Given the description of an element on the screen output the (x, y) to click on. 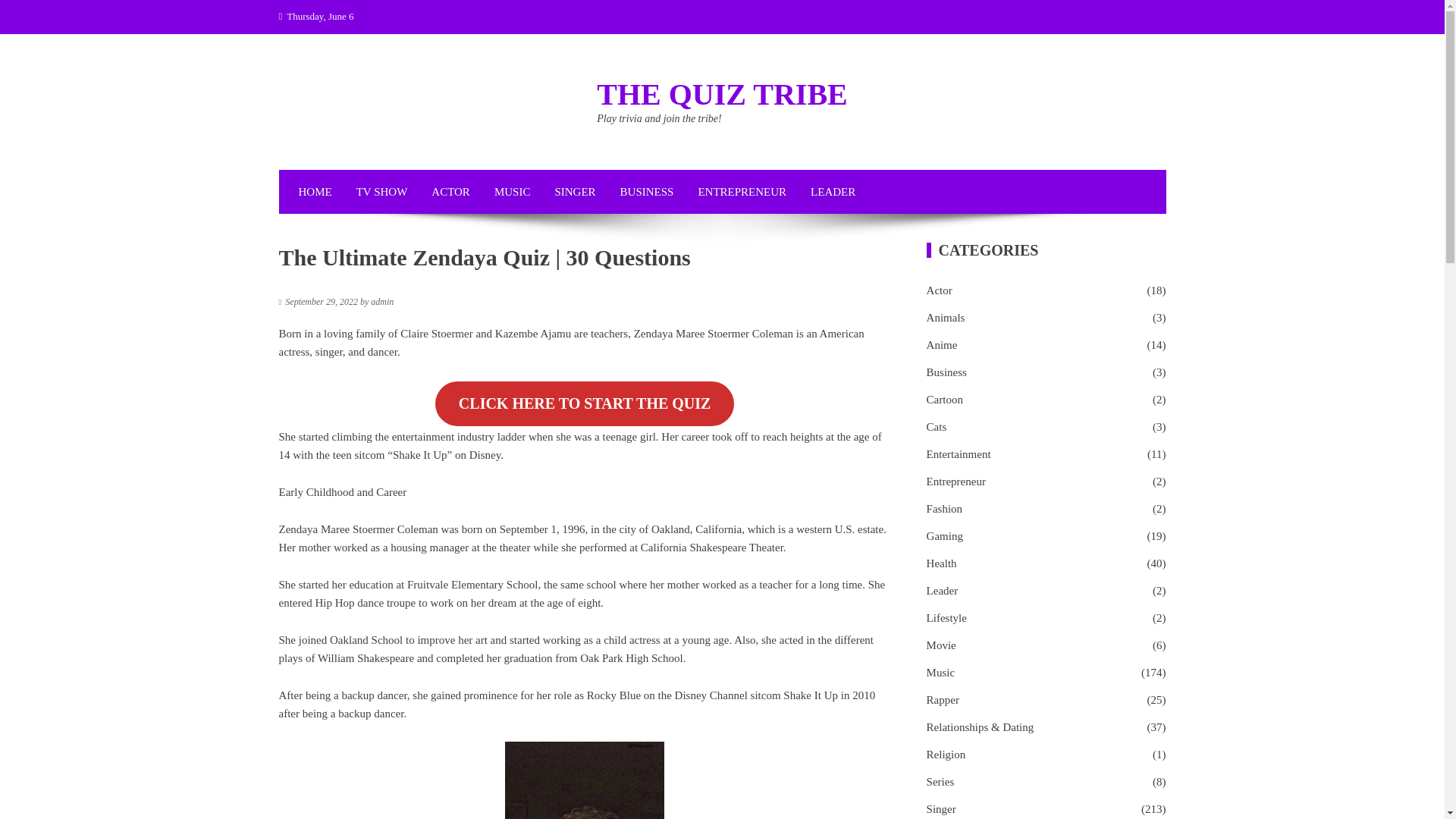
ACTOR (450, 191)
Entertainment (958, 454)
SINGER (574, 191)
Cats (936, 426)
Fashion (944, 508)
Cartoon (944, 399)
LEADER (832, 191)
Health (941, 563)
Play trivia and join the tribe! (658, 118)
ENTREPRENEUR (741, 191)
